Given the description of an element on the screen output the (x, y) to click on. 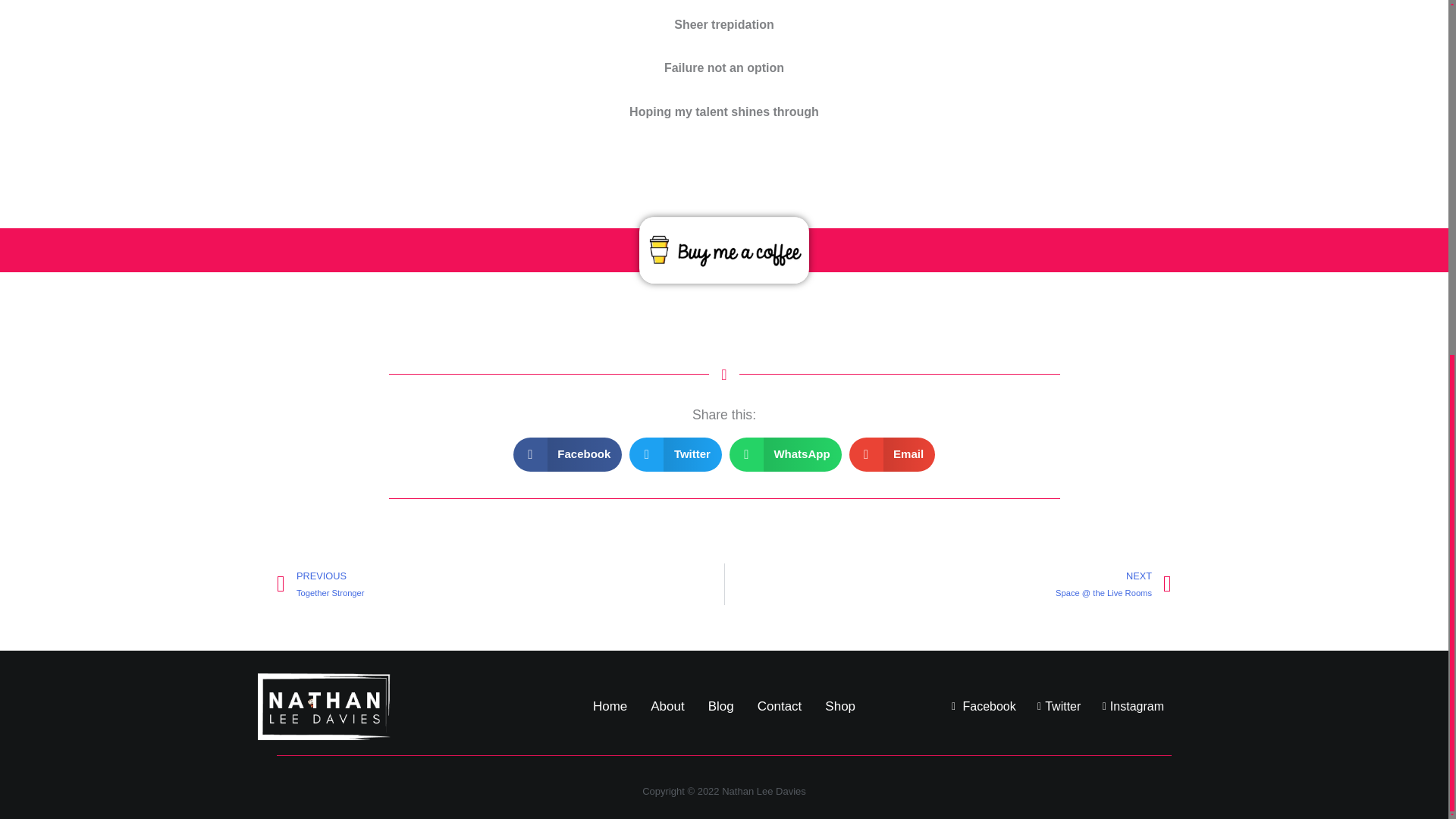
Twitter (1054, 706)
Facebook (980, 706)
Instagram (1128, 706)
Home (609, 706)
Contact (779, 706)
About (667, 706)
